Given the description of an element on the screen output the (x, y) to click on. 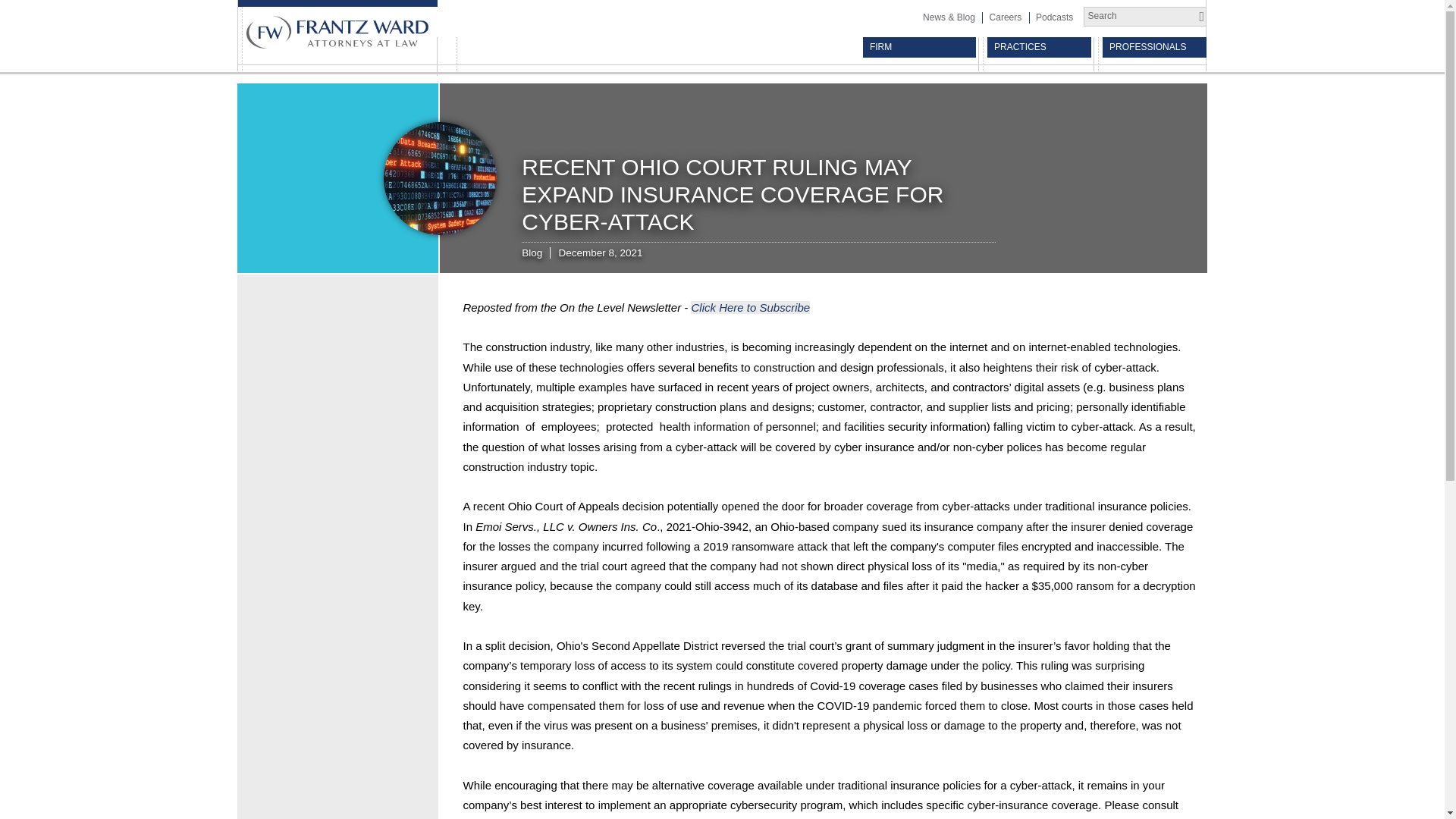
PROFESSIONALS (1154, 46)
Careers (1004, 17)
Podcasts (1053, 17)
Click Here to Subscribe (749, 307)
PRACTICES (1038, 46)
FIRM (919, 46)
